Given the description of an element on the screen output the (x, y) to click on. 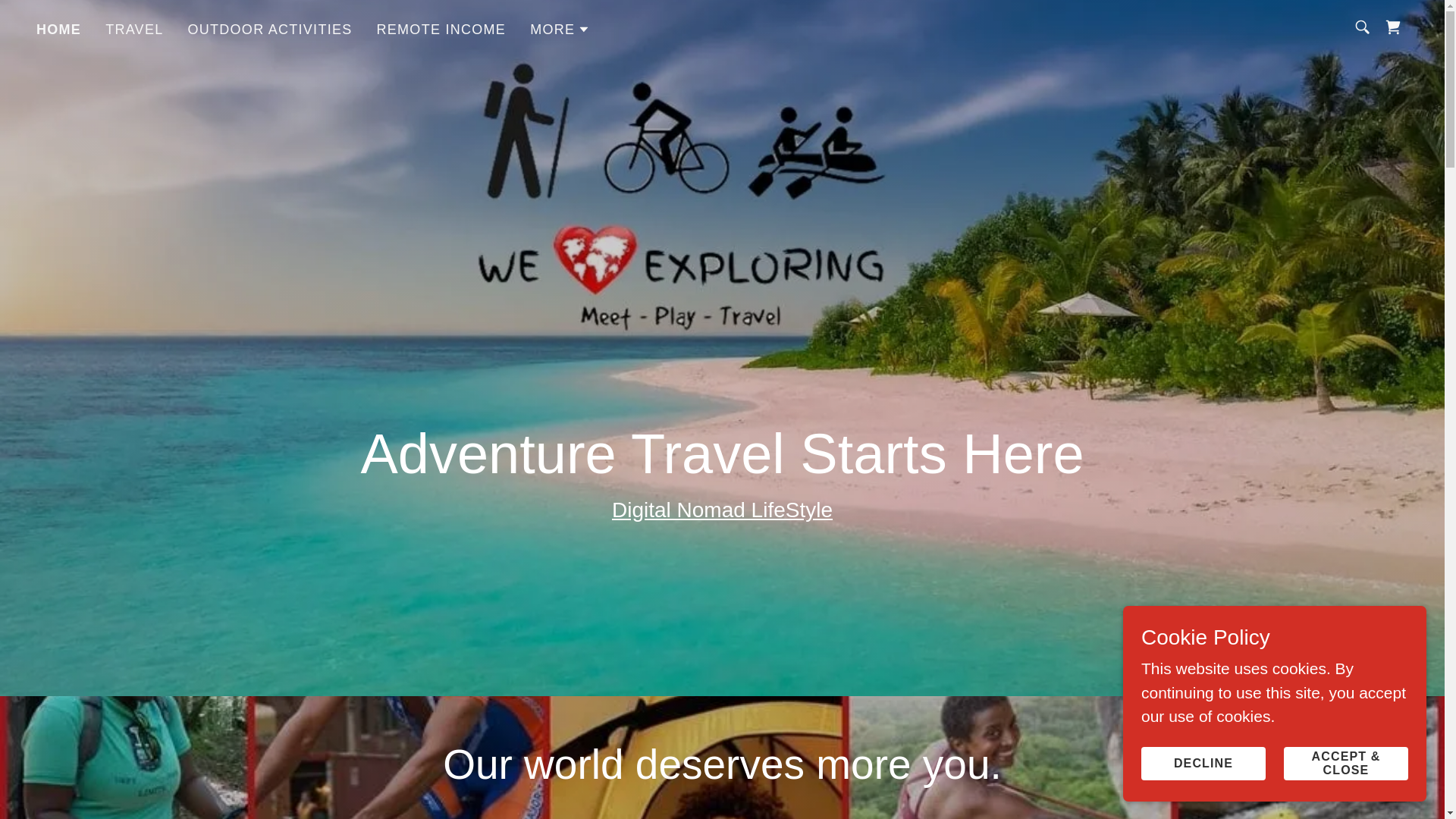
Digital Nomad LifeStyle (721, 509)
OUTDOOR ACTIVITIES (269, 28)
REMOTE INCOME (441, 28)
TRAVEL (133, 28)
HOME (58, 28)
MORE (559, 28)
